Given the description of an element on the screen output the (x, y) to click on. 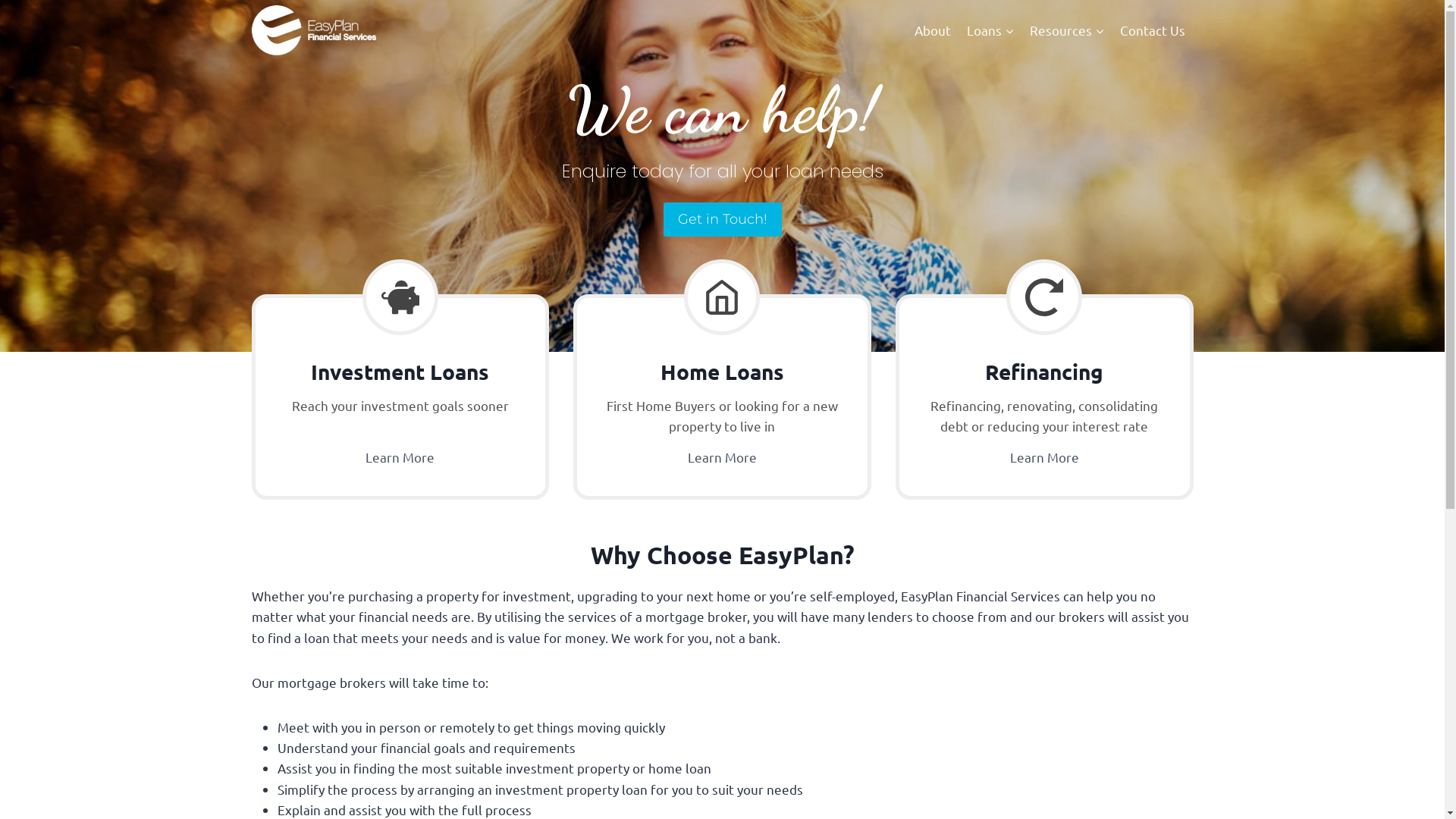
Get in Touch! Element type: text (721, 219)
Resources Element type: text (1067, 30)
About Element type: text (932, 30)
Contact Us Element type: text (1152, 30)
Loans Element type: text (989, 30)
